Given the description of an element on the screen output the (x, y) to click on. 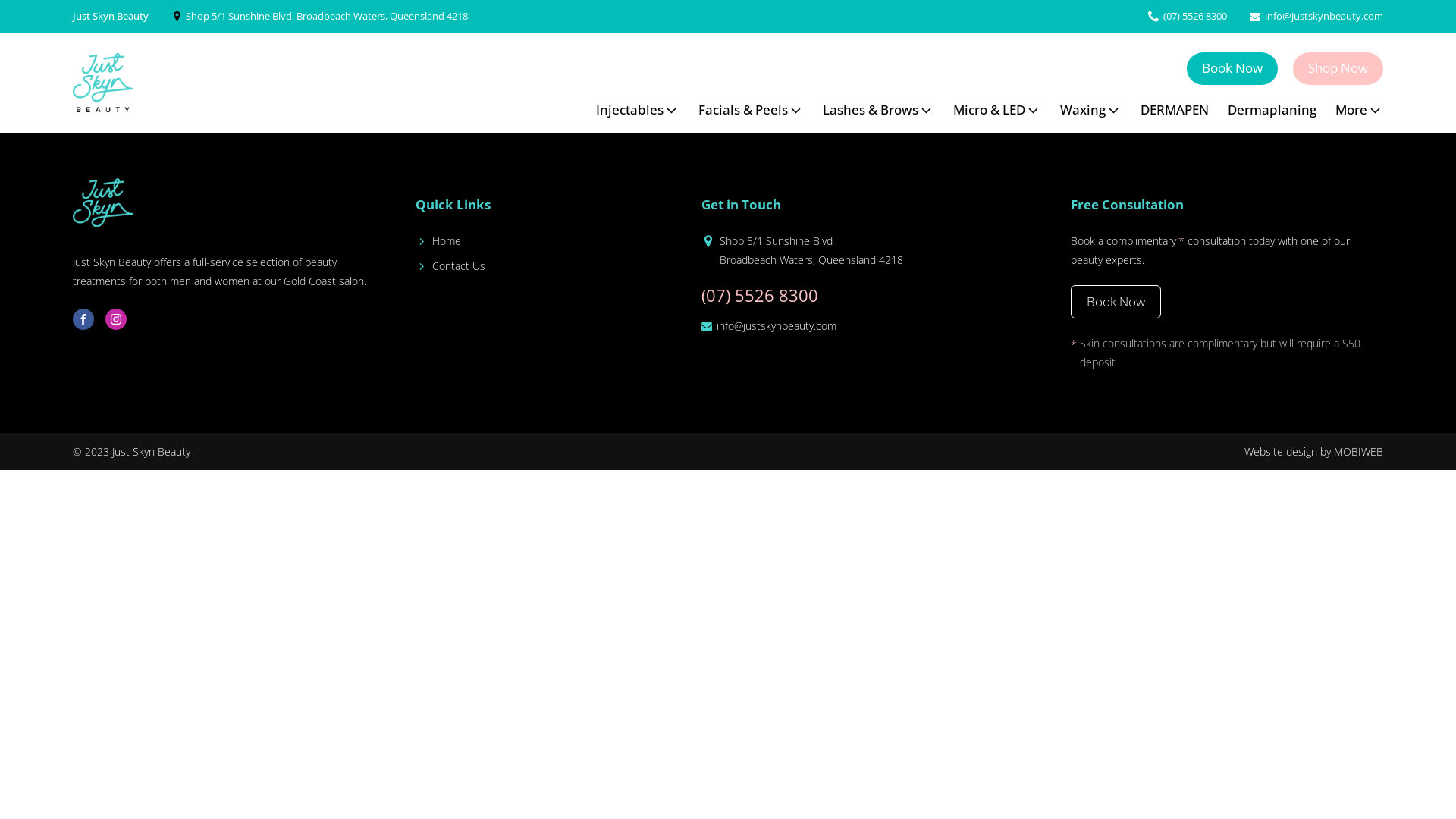
Shop 5/1 Sunshine Blvd. Broadbeach Waters, Queensland 4218 Element type: text (326, 16)
Book Now Element type: text (1115, 302)
info@justskynbeauty.com Element type: text (1323, 16)
Home Element type: text (446, 240)
Injectables Element type: text (637, 110)
Shop 5/1 Sunshine Blvd
Broadbeach Waters, Queensland 4218 Element type: text (811, 250)
Facials & Peels Element type: text (750, 110)
(07) 5526 8300 Element type: text (759, 295)
Micro & LED Element type: text (997, 110)
Website design by MOBIWEB Element type: text (1313, 451)
info@justskynbeauty.com Element type: text (776, 325)
DERMAPEN Element type: text (1174, 110)
Shop Now Element type: text (1337, 68)
Dermaplaning Element type: text (1271, 110)
(07) 5526 8300 Element type: text (1194, 16)
Book Now Element type: text (1231, 68)
Lashes & Brows Element type: text (878, 110)
More Element type: text (1359, 110)
Waxing Element type: text (1090, 110)
Contact Us Element type: text (458, 265)
